Given the description of an element on the screen output the (x, y) to click on. 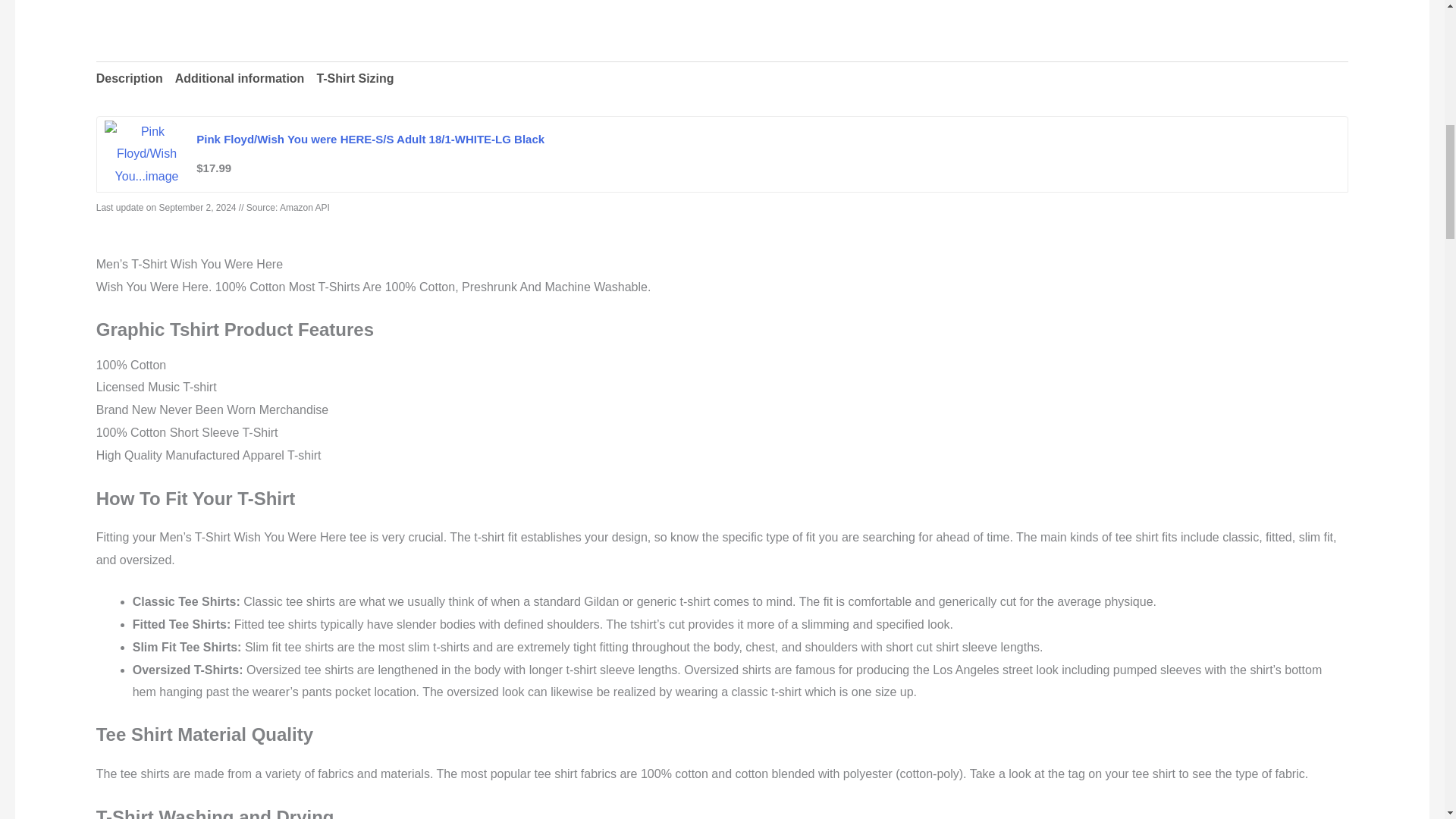
T-Shirt Sizing (354, 78)
Additional information (239, 78)
Description (129, 78)
